Given the description of an element on the screen output the (x, y) to click on. 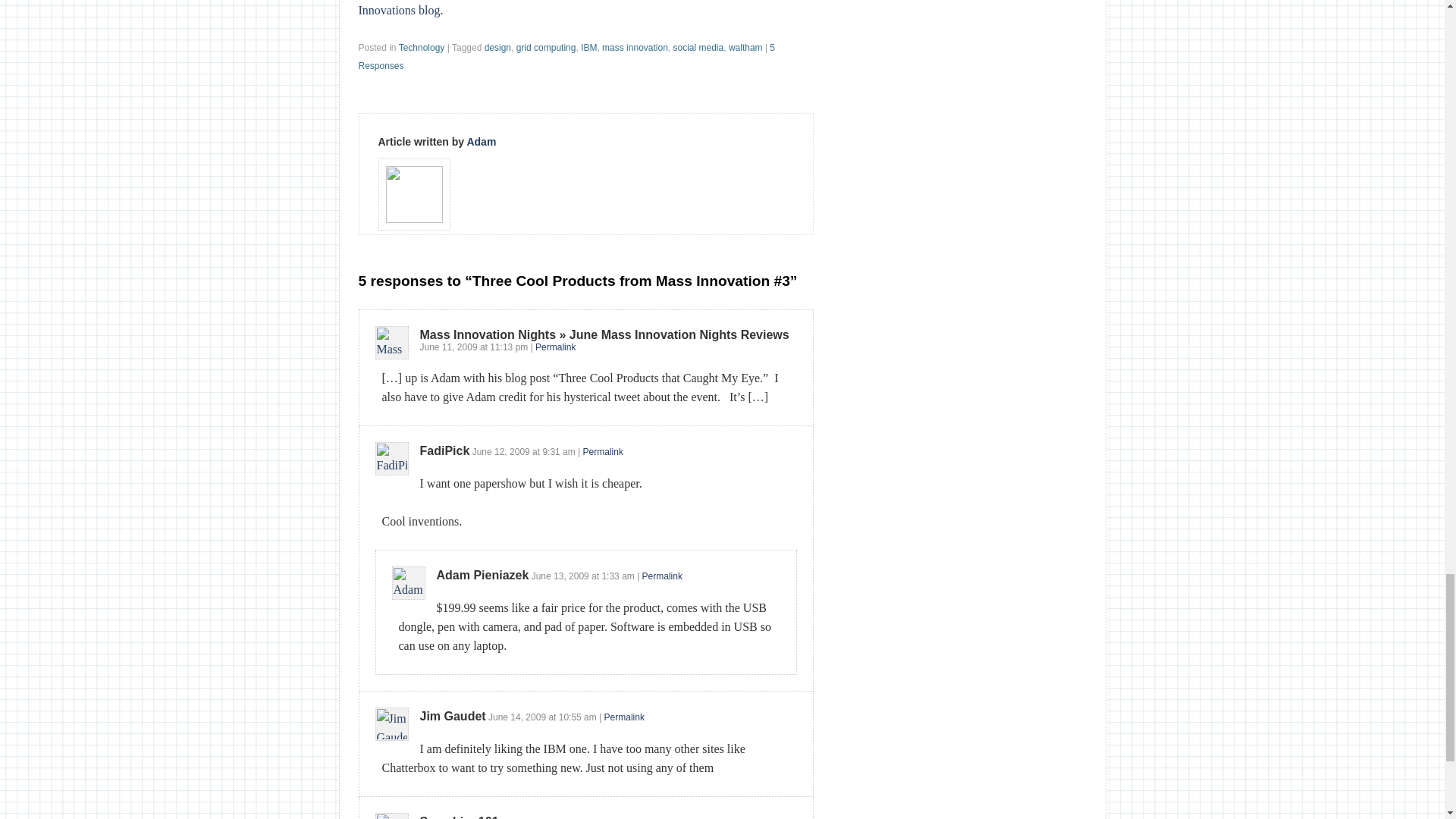
Thursday, June 11th, 2009, 11:13 pm (508, 347)
wrap-up post from the Mass Innovations blog (569, 8)
5 Responses (566, 56)
Adam Pieniazek (482, 574)
Permalink (555, 347)
Permalink (603, 451)
Adam (480, 141)
social media (697, 47)
grid computing (546, 47)
Thursday, June 11th, 2009, 11:13 pm (448, 347)
